Given the description of an element on the screen output the (x, y) to click on. 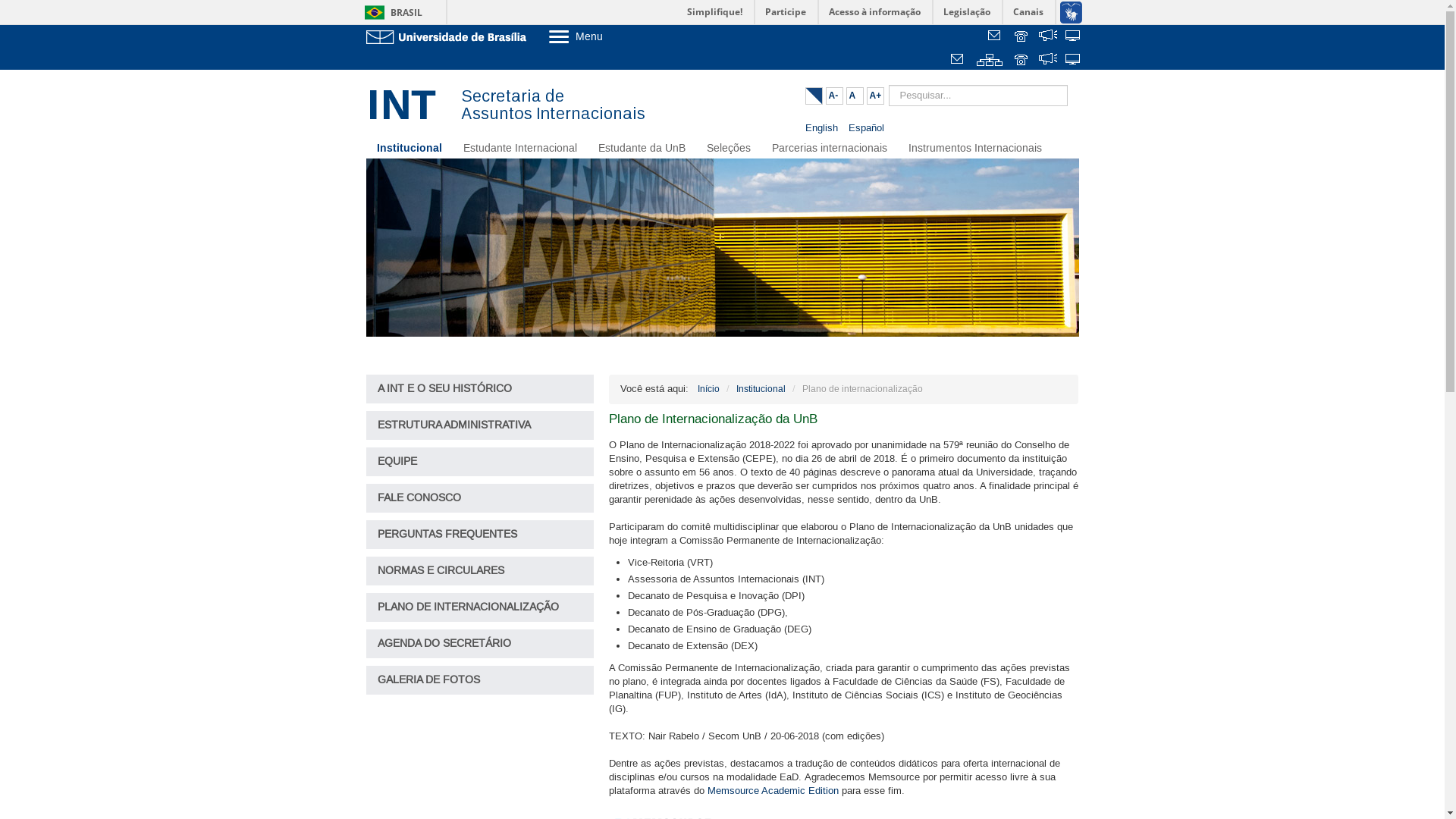
Estudante Internacional Element type: text (518, 148)
Sistemas Element type: hover (1073, 37)
Parcerias internacionais Element type: text (829, 148)
A- Element type: text (833, 95)
ESTRUTURA ADMINISTRATIVA Element type: text (479, 425)
FALE CONOSCO Element type: text (479, 497)
  Element type: text (1022, 61)
  Element type: text (996, 37)
  Element type: text (1073, 61)
NORMAS E CIRCULARES Element type: text (479, 570)
Menu Element type: text (613, 35)
English Element type: text (822, 128)
A Element type: text (854, 95)
Webmail Element type: hover (958, 61)
Webmail Element type: hover (996, 37)
GALERIA DE FOTOS Element type: text (479, 679)
EQUIPE Element type: text (479, 461)
Telefones da UnB Element type: hover (1022, 37)
  Element type: text (1022, 37)
Telefones da UnB Element type: hover (1022, 61)
  Element type: text (1073, 37)
  Element type: text (1047, 61)
Memsource Academic Edition Element type: text (771, 790)
Sistemas Element type: hover (1073, 61)
BRASIL Element type: text (389, 12)
Fala.BR Element type: hover (1047, 37)
Institucional Element type: text (408, 148)
Institucional Element type: text (759, 388)
  Element type: text (1047, 37)
Instrumentos Internacionais Element type: text (974, 148)
A+ Element type: text (874, 95)
PERGUNTAS FREQUENTES Element type: text (479, 534)
  Element type: text (958, 61)
  Element type: text (989, 61)
Mapa do Site Element type: hover (989, 61)
Estudante da UnB Element type: text (640, 148)
Fala.BR Element type: hover (1047, 61)
Ir para o Portal da UnB Element type: hover (448, 36)
